Given the description of an element on the screen output the (x, y) to click on. 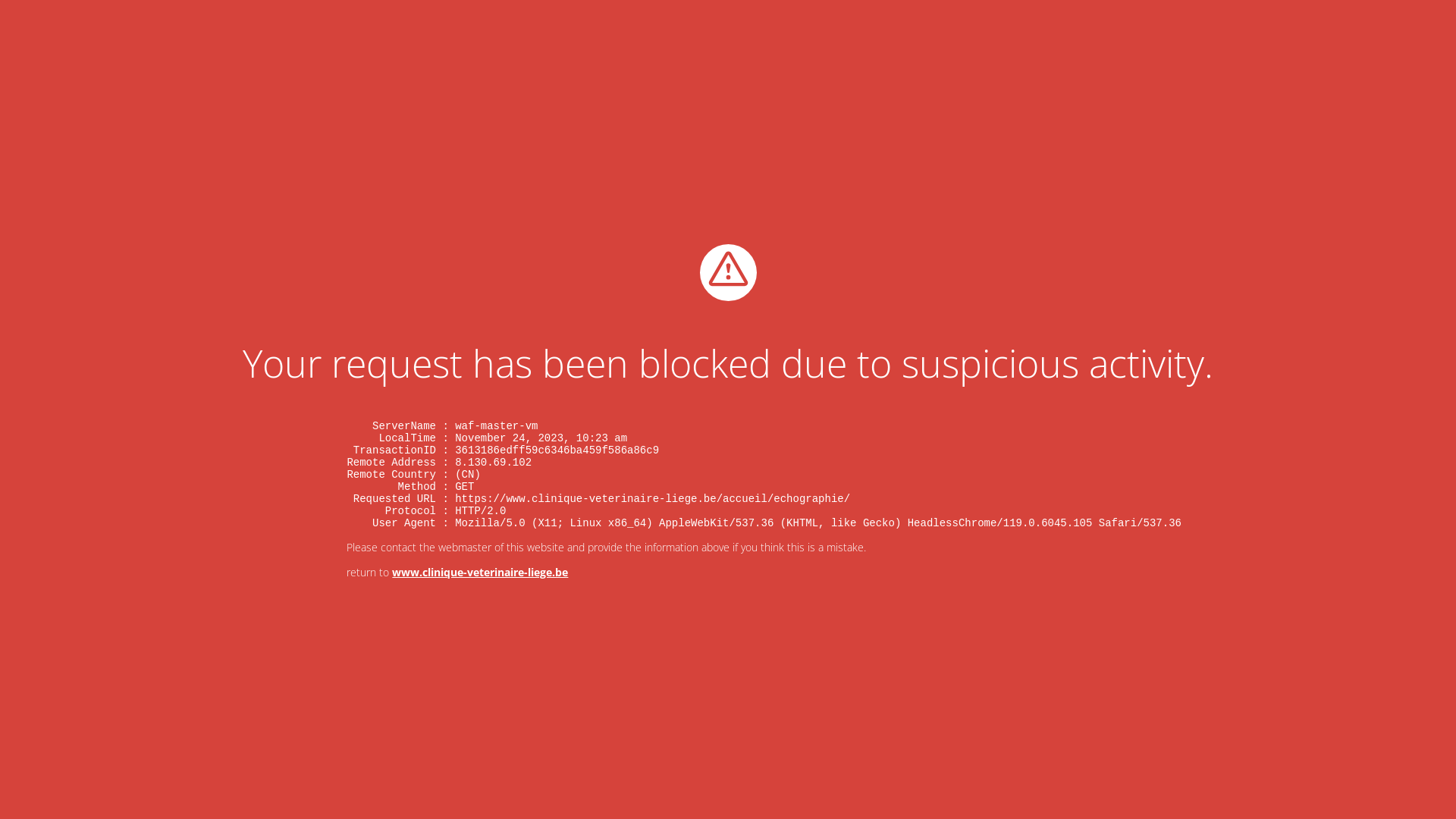
www.clinique-veterinaire-liege.be Element type: text (479, 571)
